Given the description of an element on the screen output the (x, y) to click on. 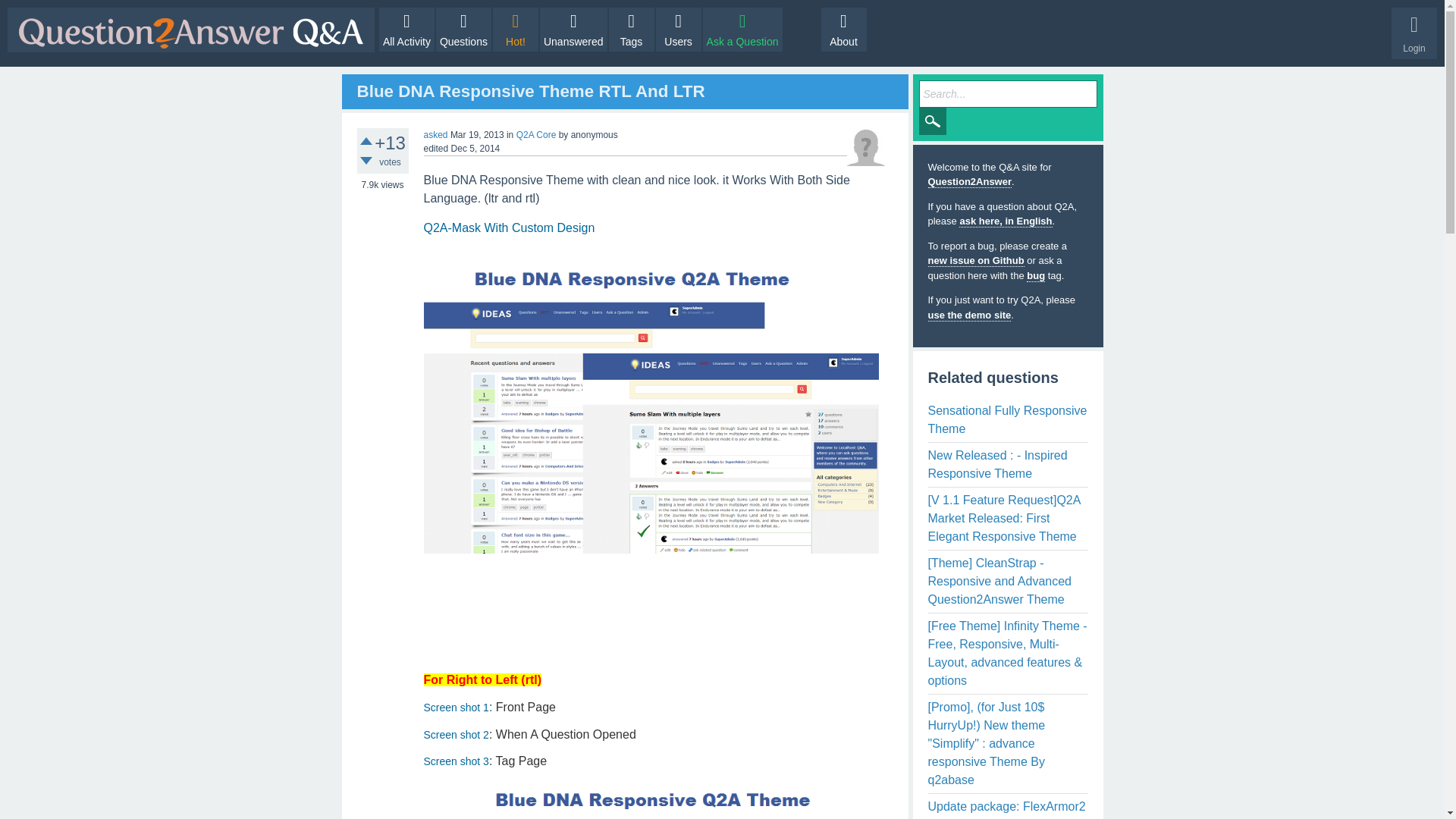
Click to vote up (365, 140)
Q2A-Mask With Custom Design (508, 227)
Users (678, 29)
About (843, 29)
Questions (463, 29)
Unanswered (573, 29)
All Activity (405, 29)
Screen shot 3 (455, 761)
Search (932, 121)
Screen shot 2 (455, 734)
Ask a Question (743, 29)
Q2A Core (536, 134)
Screen shot 1 (455, 707)
asked (434, 134)
Tags (630, 29)
